Given the description of an element on the screen output the (x, y) to click on. 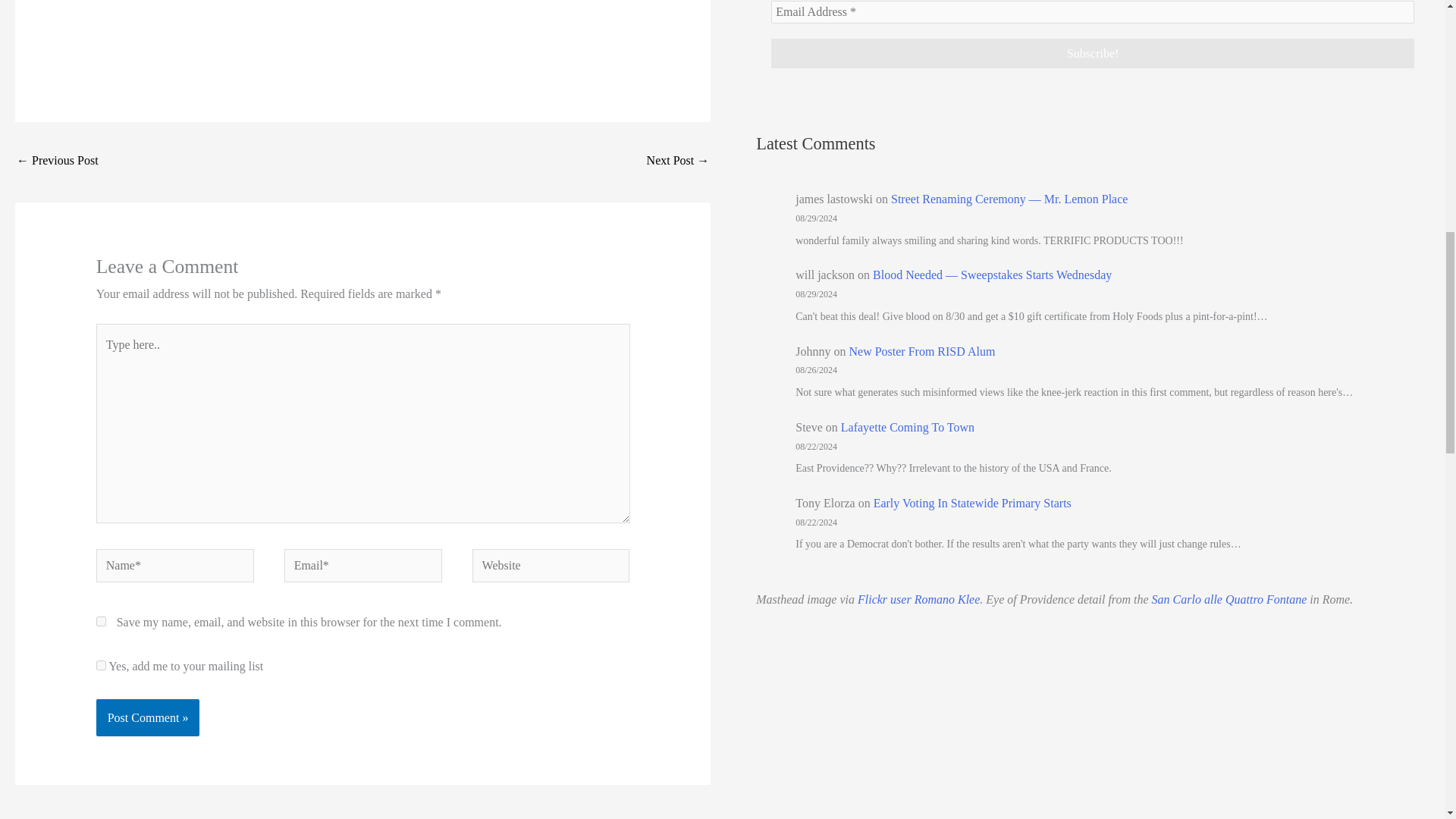
yes (101, 621)
1 (101, 665)
Subscribe! (1092, 53)
Email Address (1092, 11)
Tonight, On The Runway (678, 162)
